Given the description of an element on the screen output the (x, y) to click on. 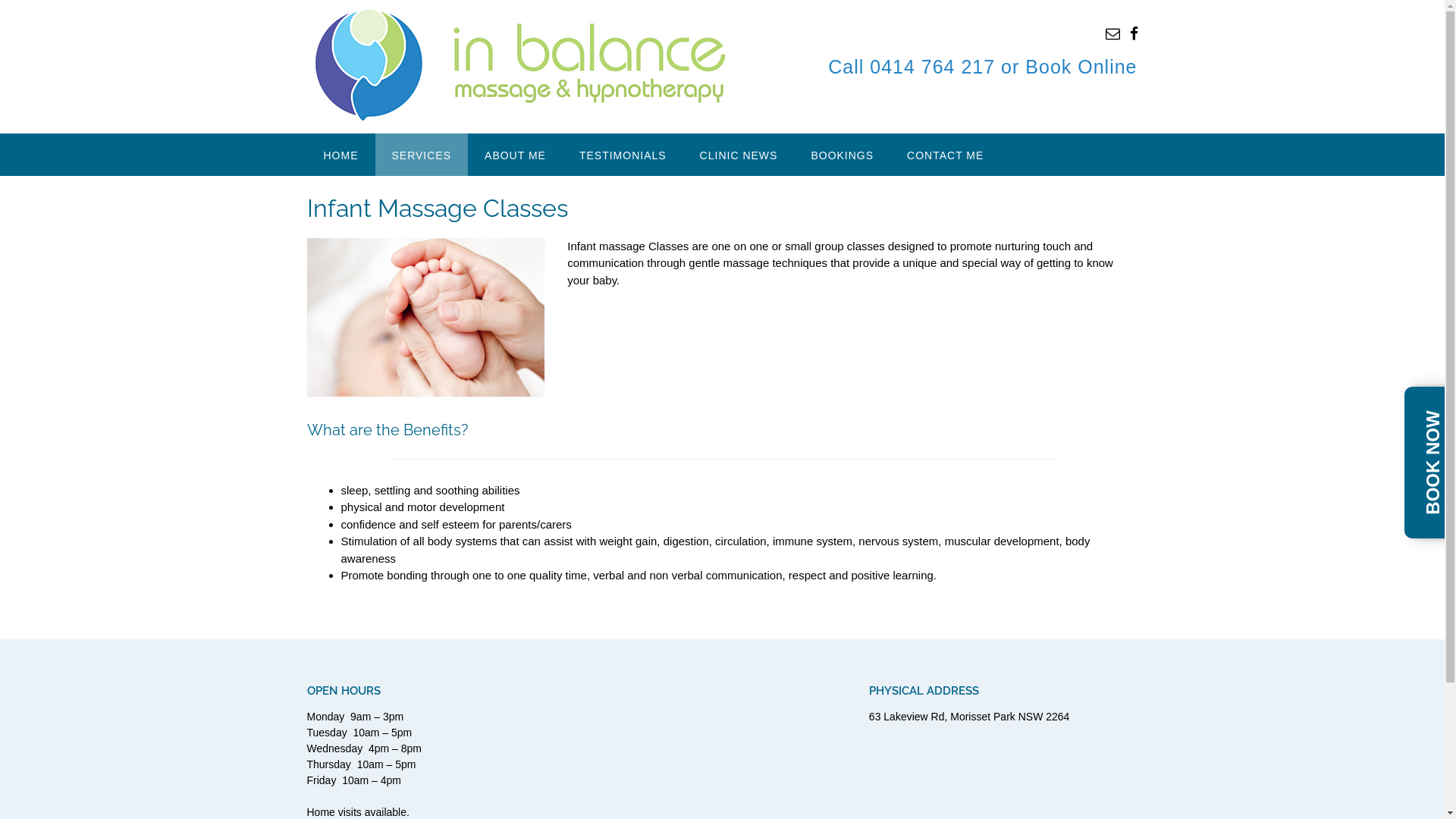
HOME Element type: text (340, 154)
Find me on Facebook Element type: hover (1133, 33)
CLINIC NEWS Element type: text (738, 154)
SERVICES Element type: text (420, 154)
Mother massaging her child's foot, shallow focus Element type: hover (425, 317)
Send me an email Element type: hover (1112, 33)
TESTIMONIALS Element type: text (622, 154)
BOOKINGS Element type: text (841, 154)
ABOUT ME Element type: text (514, 154)
CONTACT ME Element type: text (945, 154)
